Given the description of an element on the screen output the (x, y) to click on. 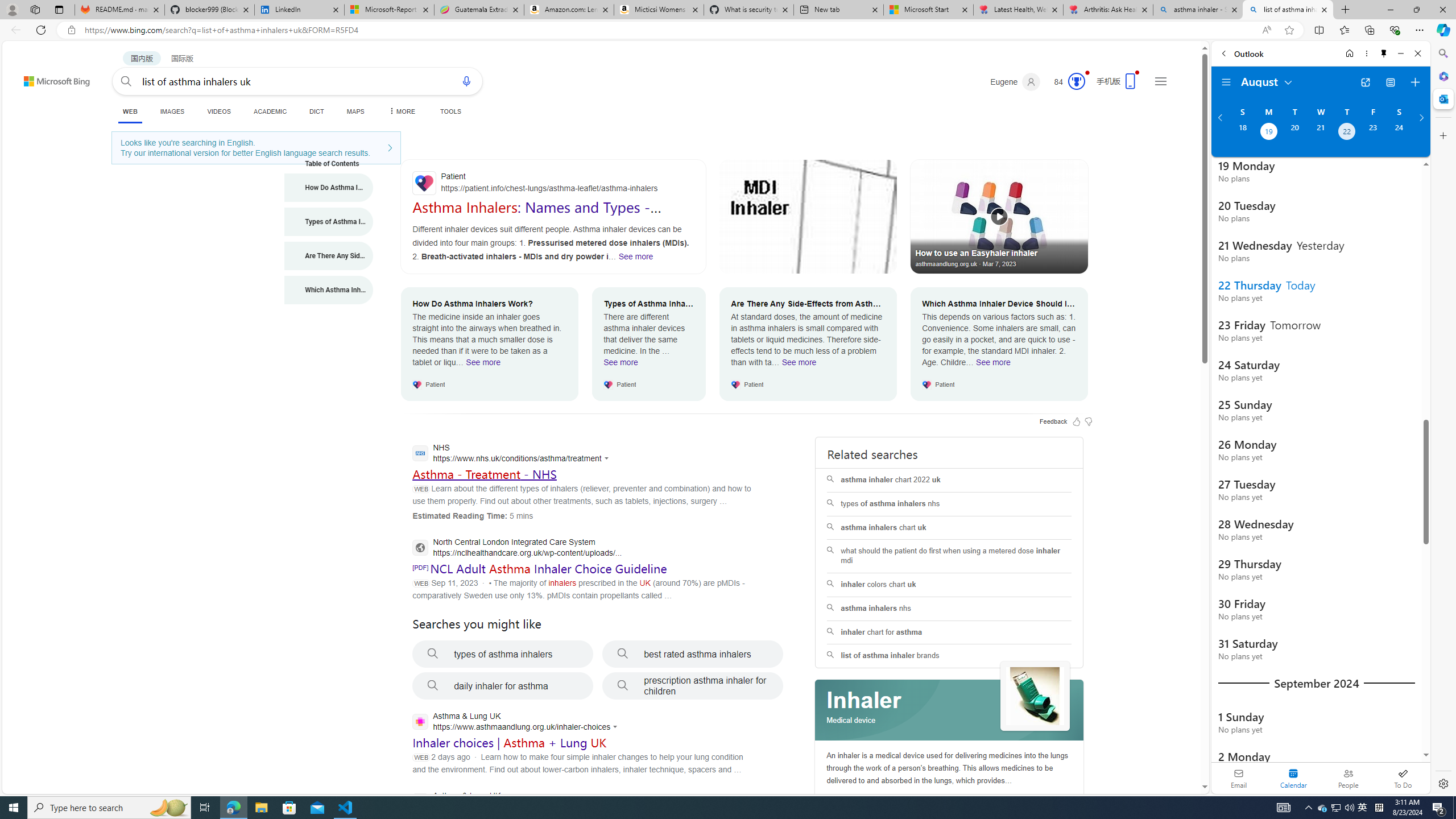
prescription asthma inhaler for children (692, 685)
Dropdown Menu (400, 111)
North Central London Integrated Care System (516, 549)
types of asthma inhalers (503, 653)
Email (1238, 777)
Saturday, August 24, 2024.  (1399, 132)
inhaler colors chart uk (949, 584)
Asthma - Treatment - NHS (484, 473)
August (1267, 80)
